Given the description of an element on the screen output the (x, y) to click on. 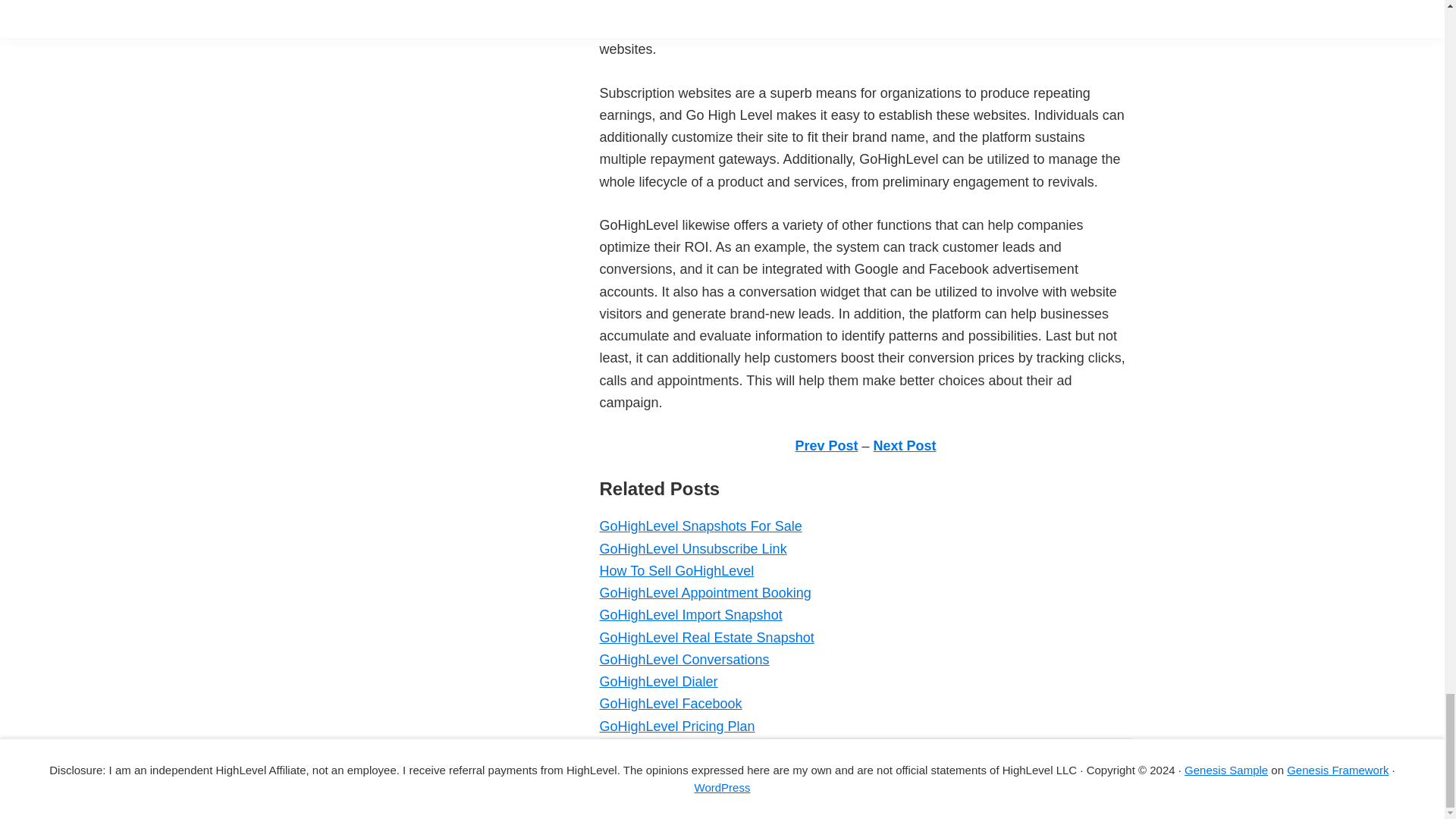
GoHighLevel Pricing Plan (676, 726)
GoHighLevel Dialer (657, 681)
Next Post (904, 445)
Prev Post (825, 445)
GoHighLevel Dialer (657, 681)
GoHighLevel Conversations (683, 659)
GoHighLevel Import Snapshot (689, 614)
How To Sell GoHighLevel (676, 570)
GoHighLevel Real Estate Snapshot (705, 637)
GoHighLevel Real Estate Snapshot (705, 637)
